Given the description of an element on the screen output the (x, y) to click on. 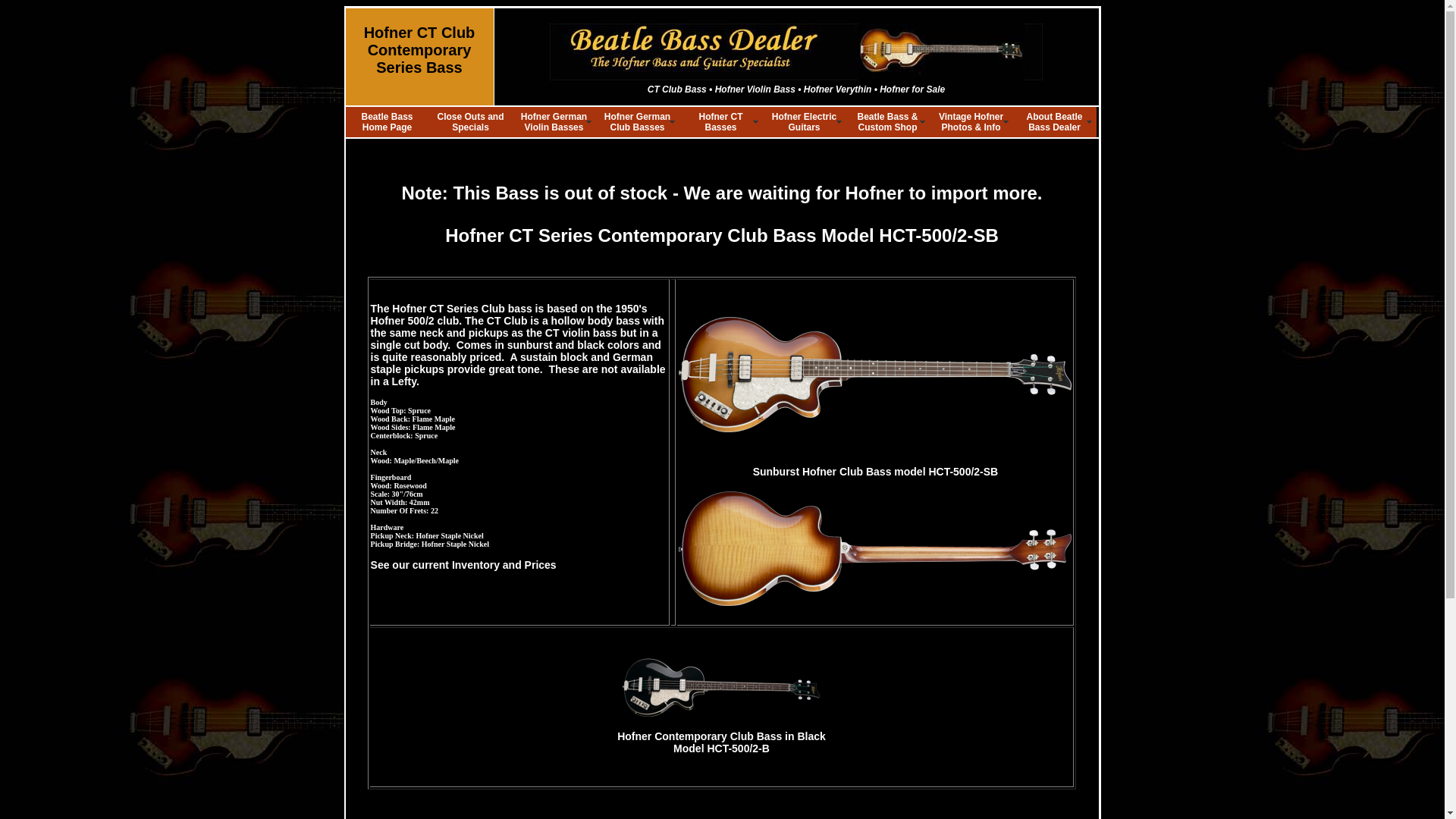
Hofner German Club Basses (637, 122)
See our current Inventory and Prices (463, 564)
Hofner Electric Guitars (803, 122)
About Beatle Bass Dealer (1054, 122)
Hofner CT Basses (720, 122)
Close Outs and Specials (470, 122)
Hofner Basses and Guitars in Chicago (387, 122)
Hofner German Violin Basses (553, 122)
Beatle Bass Home Page (387, 122)
